Given the description of an element on the screen output the (x, y) to click on. 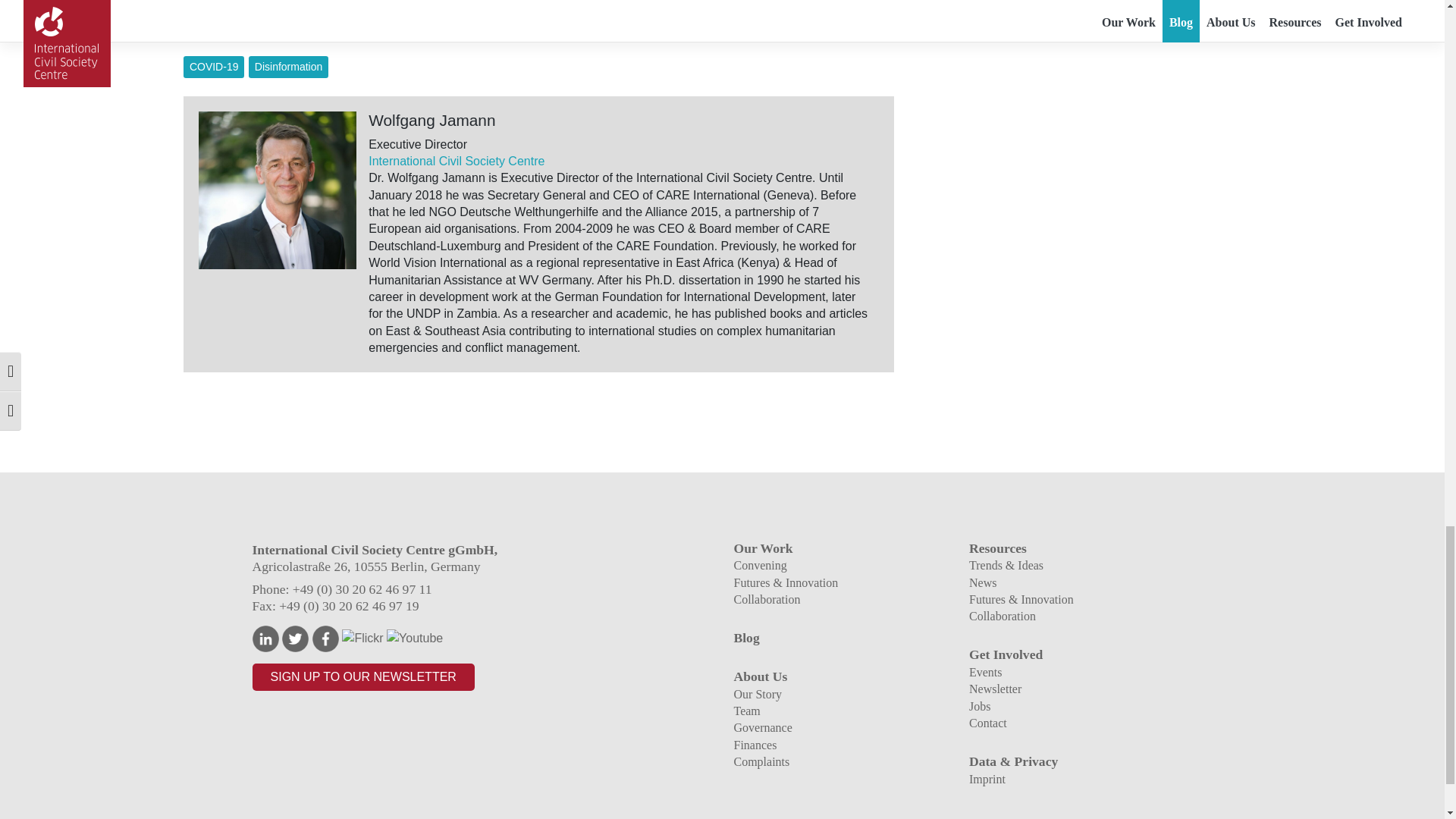
International Civil Society Centre (456, 160)
COVID-19 (213, 66)
Disinformation (288, 66)
smart and scalable answers (713, 10)
